Given the description of an element on the screen output the (x, y) to click on. 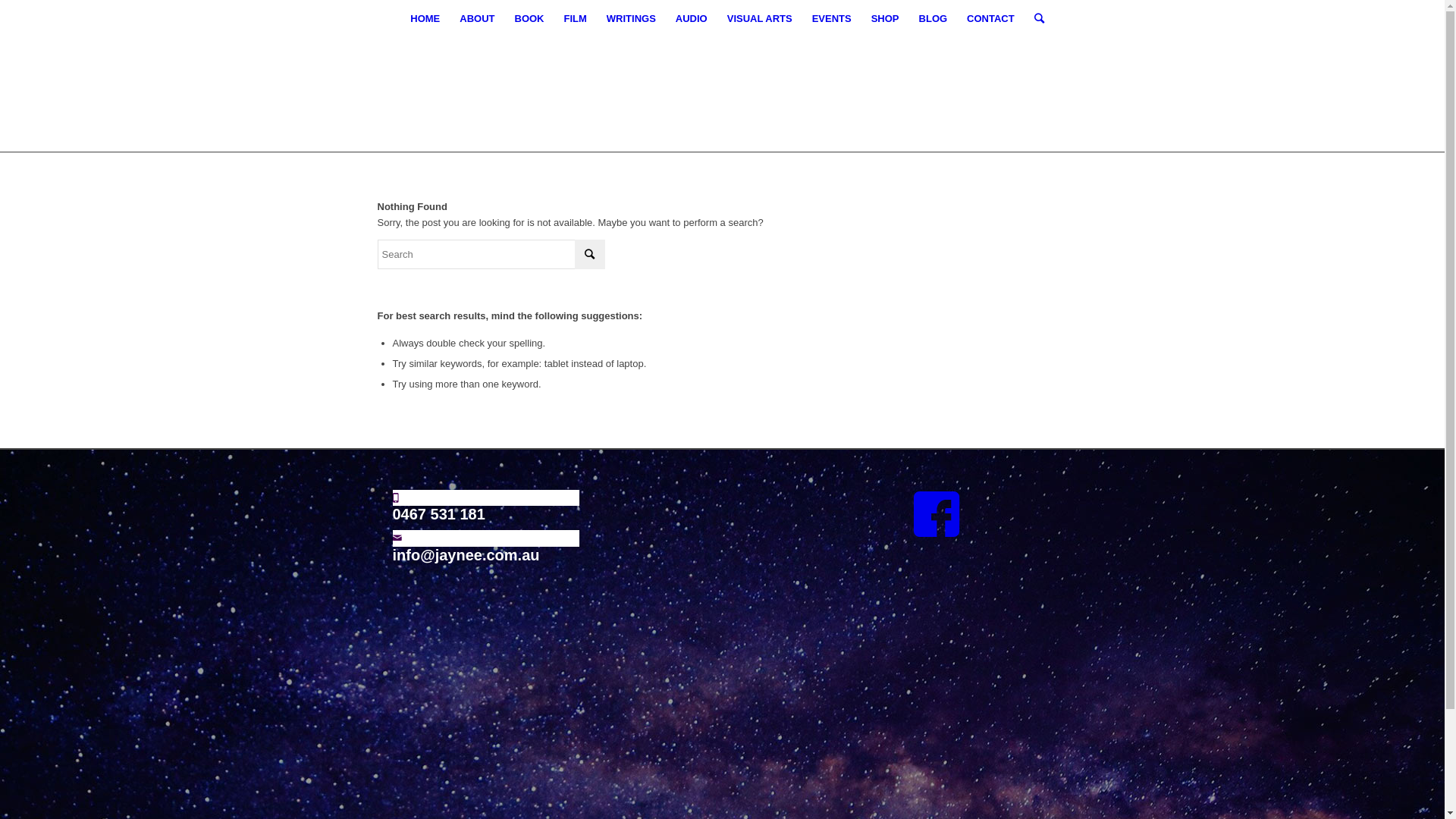
EVENTS Element type: text (831, 18)
WRITINGS Element type: text (630, 18)
BLOG Element type: text (933, 18)
BOOK Element type: text (529, 18)
AUDIO Element type: text (691, 18)
CONTACT Element type: text (990, 18)
SHOP Element type: text (885, 18)
FILM Element type: text (574, 18)
ABOUT Element type: text (476, 18)
VISUAL ARTS Element type: text (759, 18)
HOME Element type: text (424, 18)
